Given the description of an element on the screen output the (x, y) to click on. 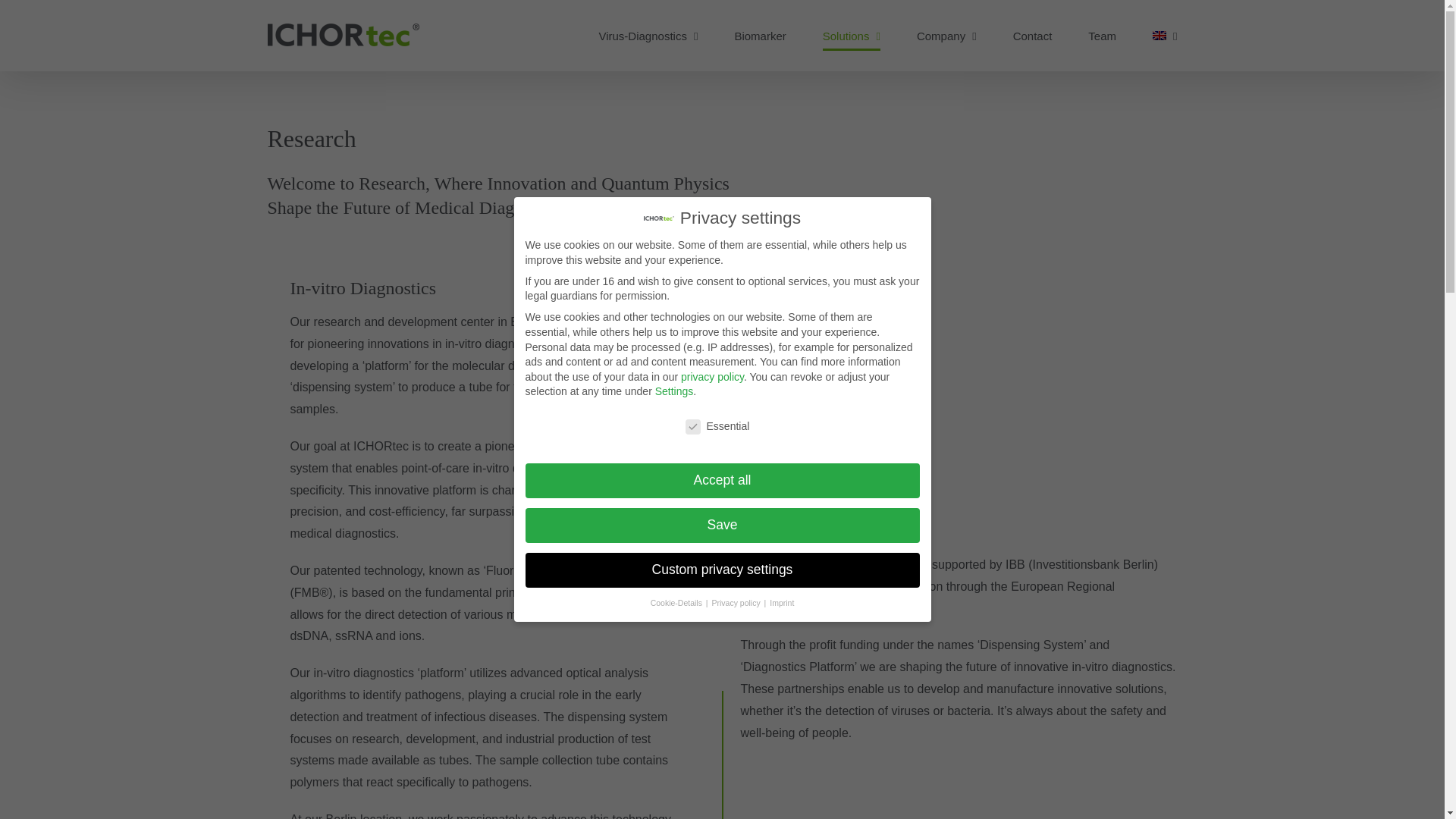
Virus-Diagnostics (647, 35)
